Given the description of an element on the screen output the (x, y) to click on. 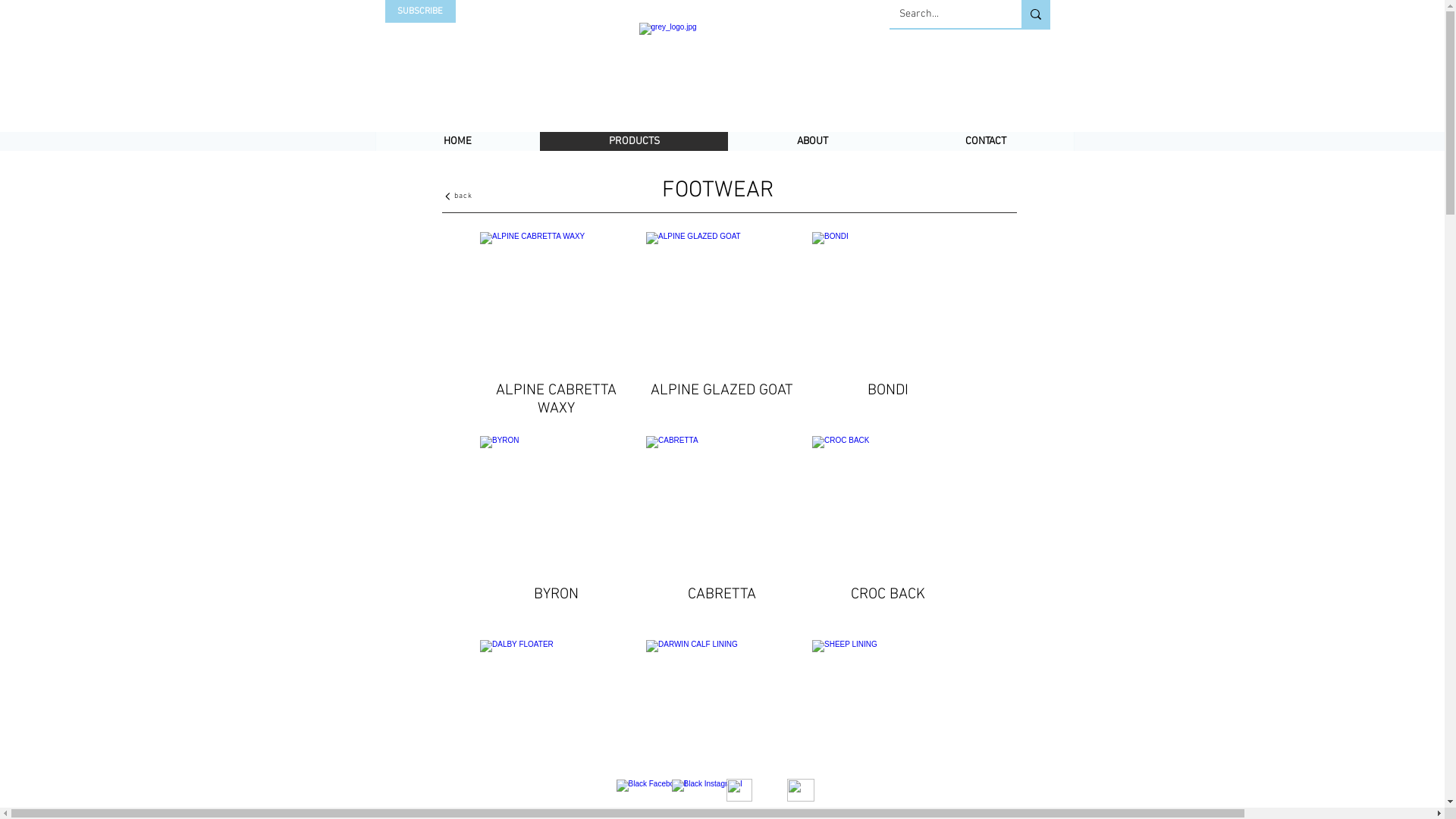
alpine cabretta waxy.jpg Element type: hover (557, 302)
SUBSCRIBE Element type: text (420, 11)
black.jpg Element type: hover (557, 710)
lining.jpg Element type: hover (889, 710)
HOME Element type: text (456, 140)
ABOUT Element type: text (812, 140)
black.jpg Element type: hover (557, 506)
CONTACT Element type: text (985, 140)
biscuit.jpg Element type: hover (723, 710)
cedar.jpg Element type: hover (723, 302)
black.jpg Element type: hover (723, 506)
brown - long.jpg Element type: hover (889, 506)
bondi.jpg Element type: hover (889, 302)
PRODUCTS Element type: text (633, 140)
back Element type: text (457, 195)
